Given the description of an element on the screen output the (x, y) to click on. 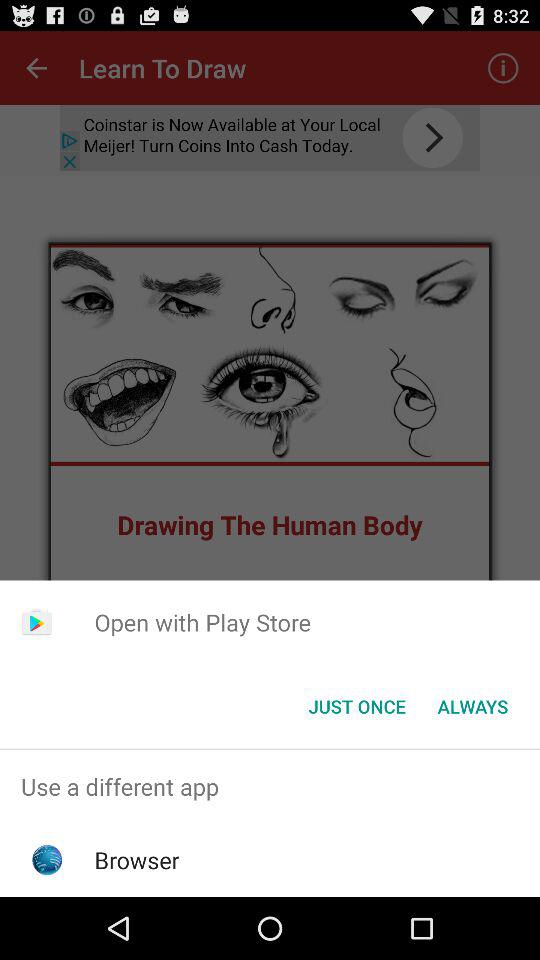
tap item above browser icon (270, 786)
